Given the description of an element on the screen output the (x, y) to click on. 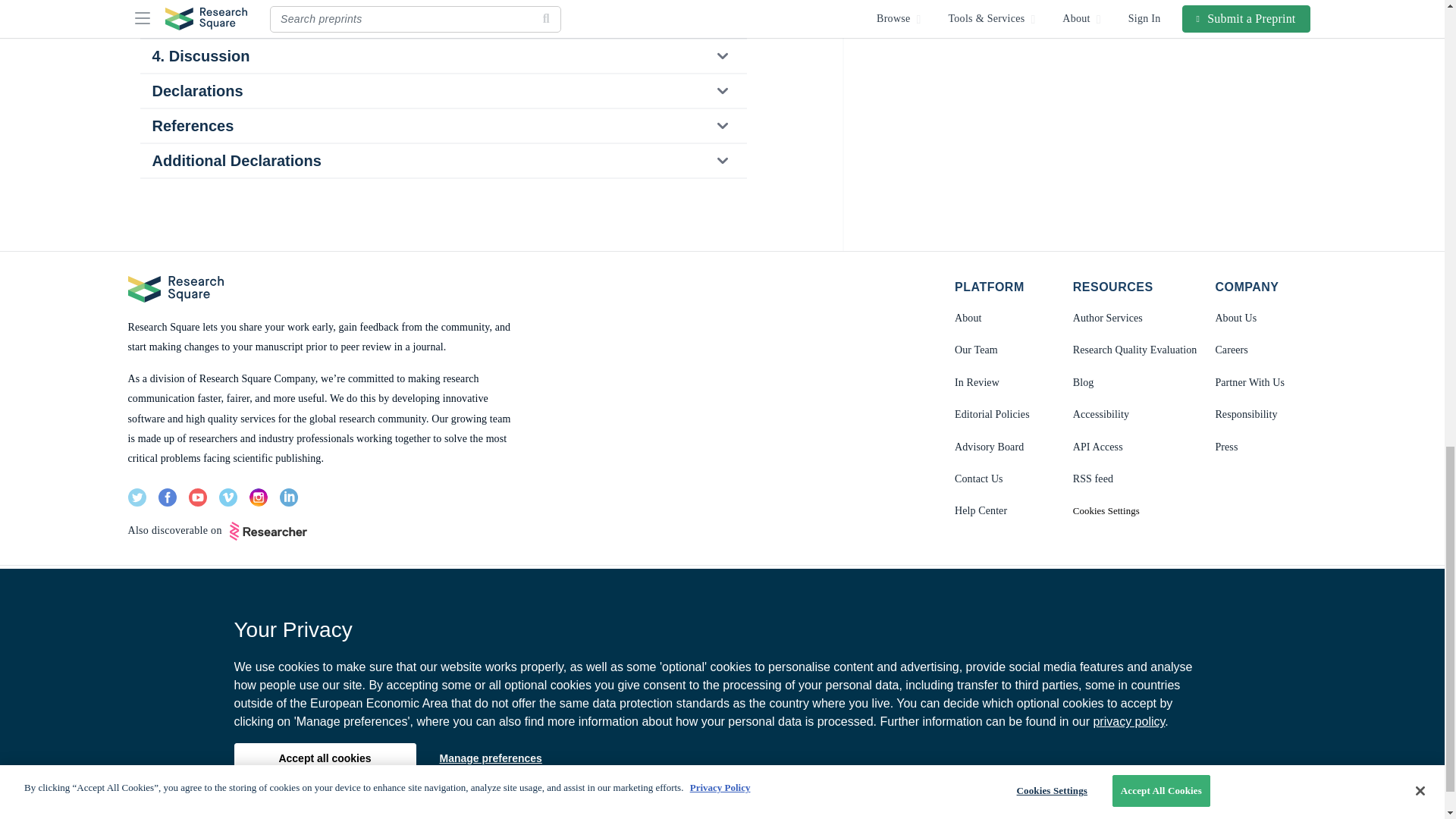
References (442, 125)
Declarations (442, 90)
3. Results (442, 20)
Additional Declarations (442, 160)
4. Discussion (442, 55)
